Given the description of an element on the screen output the (x, y) to click on. 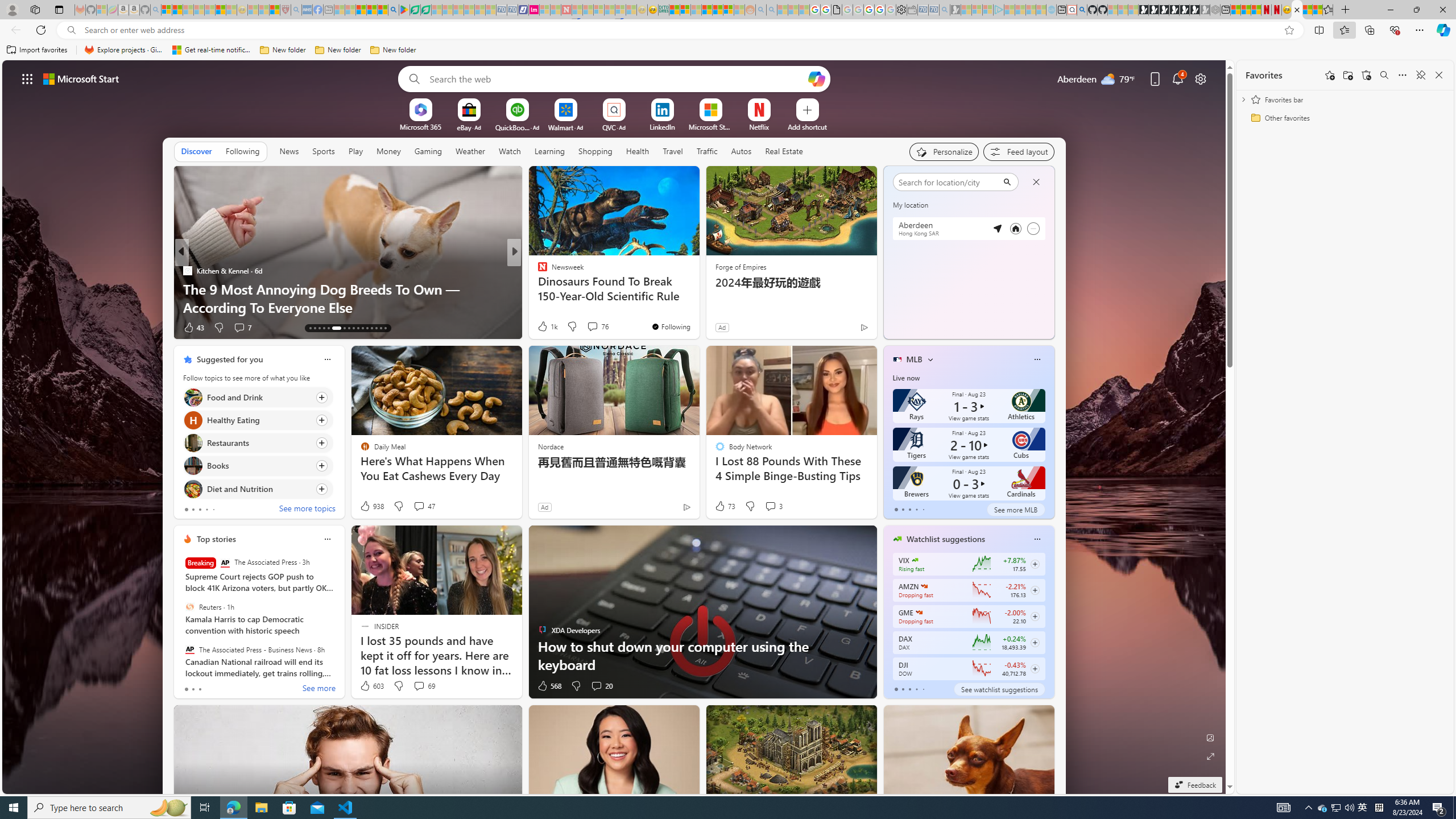
tab-2 (908, 689)
Page settings (1200, 78)
AutomationID: tab-25 (371, 328)
Netflix (758, 126)
The Associated Press - Business News (189, 649)
AutomationID: tab-37 (376, 328)
